Given the description of an element on the screen output the (x, y) to click on. 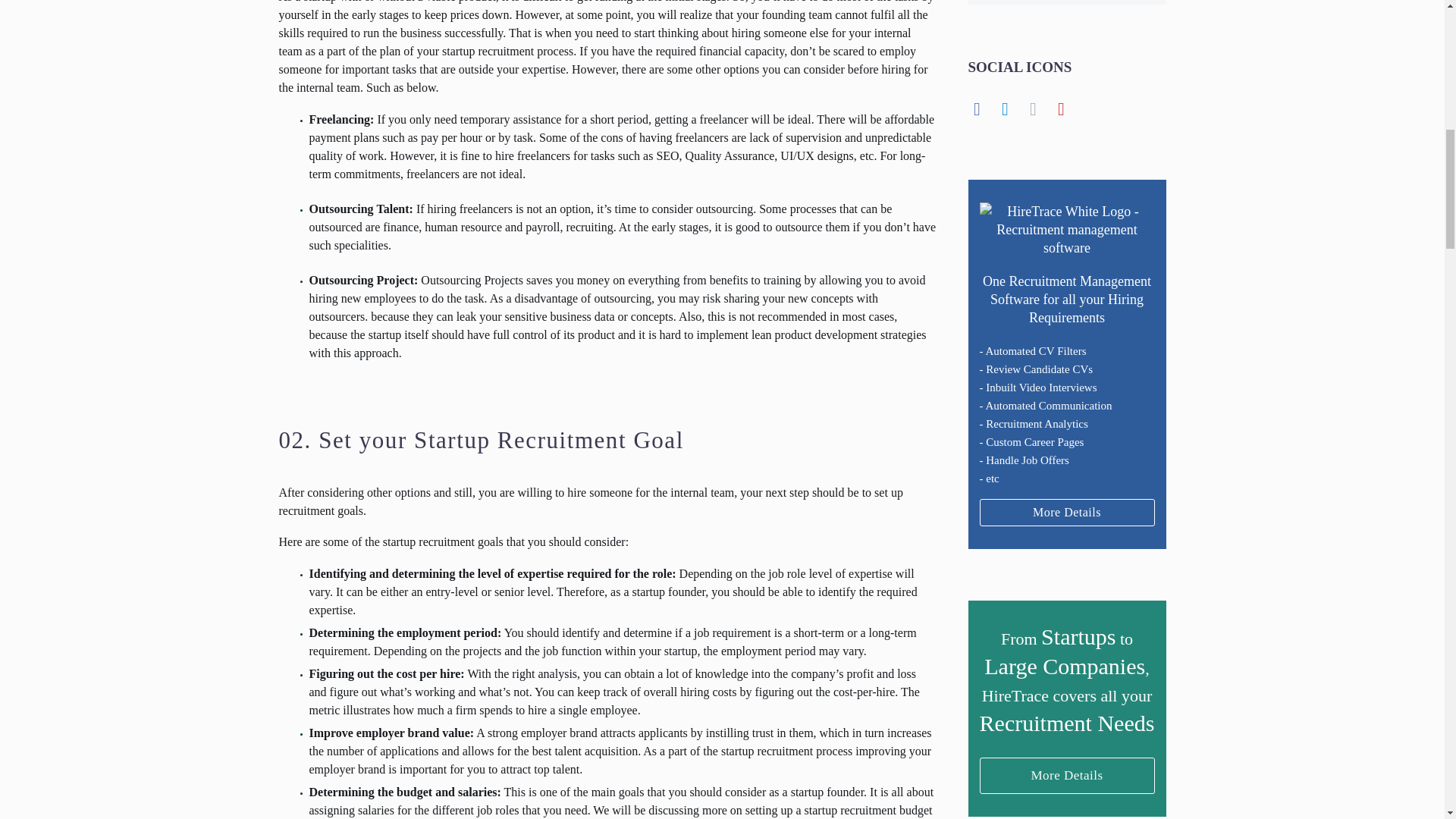
More Details (1066, 773)
More Details (1066, 512)
More Details (1066, 512)
More Details (1066, 511)
More Details (1066, 775)
More Details (1066, 775)
